Given the description of an element on the screen output the (x, y) to click on. 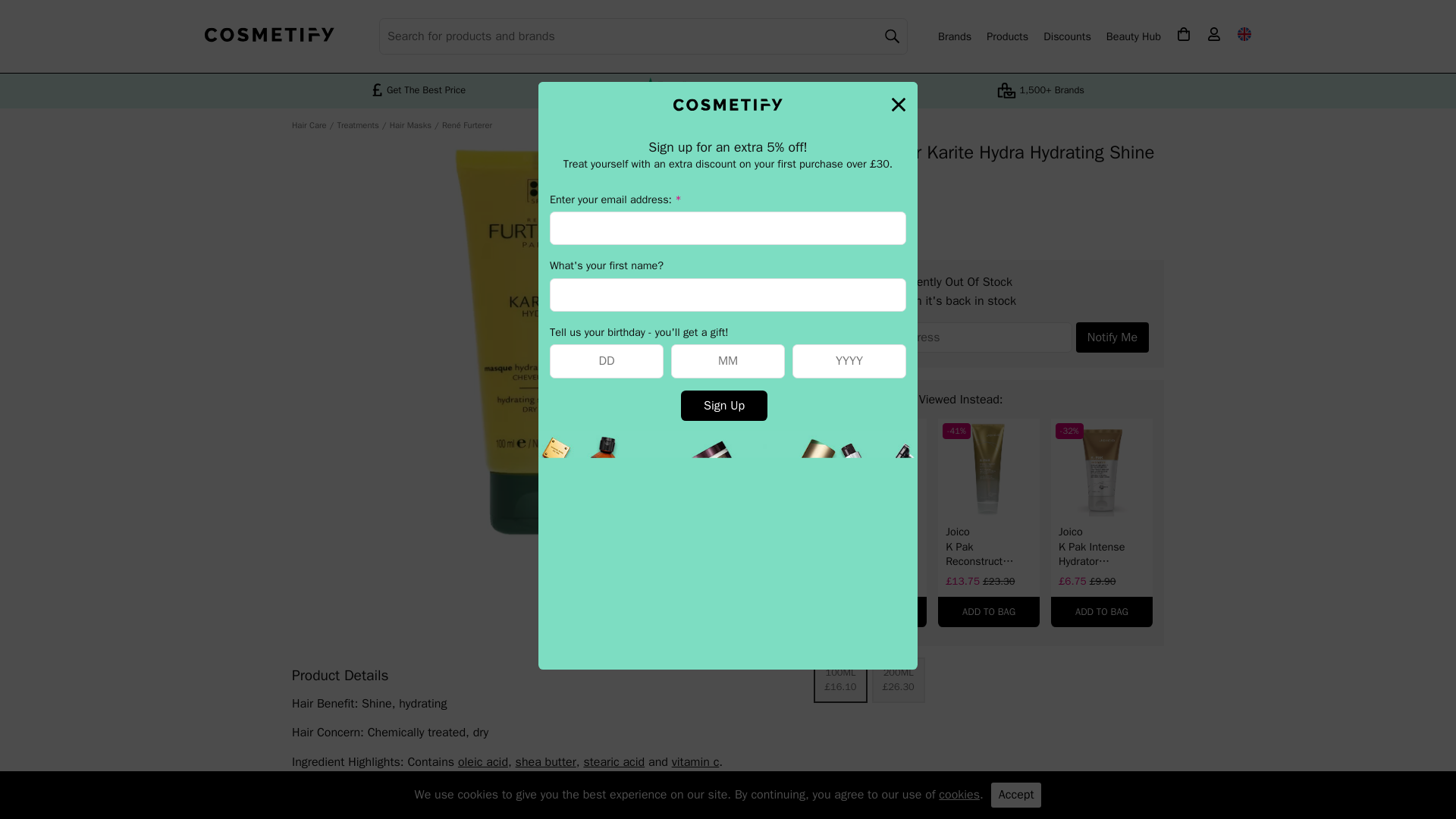
Products (1007, 36)
Brands (954, 36)
Discounts (1066, 36)
Beauty Hub (1133, 36)
cookies (959, 794)
Accept (1016, 794)
